Given the description of an element on the screen output the (x, y) to click on. 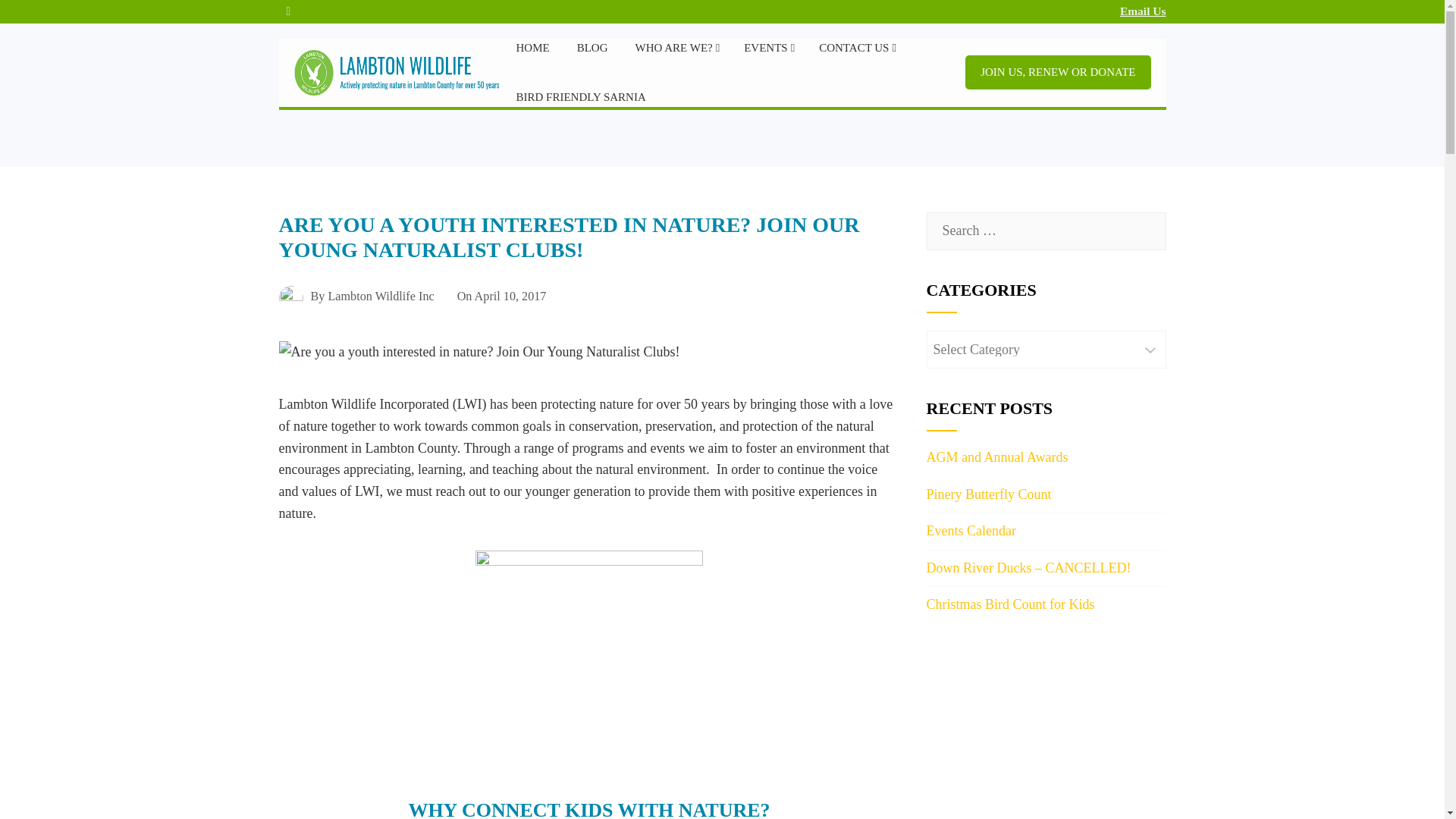
EVENTS (767, 48)
CONTACT US (856, 48)
BIRD FRIENDLY SARNIA (579, 97)
WHO ARE WE? (675, 48)
HOME (531, 48)
Email Us (1142, 10)
JOIN US, RENEW OR DONATE (1057, 72)
BLOG (593, 48)
